Given the description of an element on the screen output the (x, y) to click on. 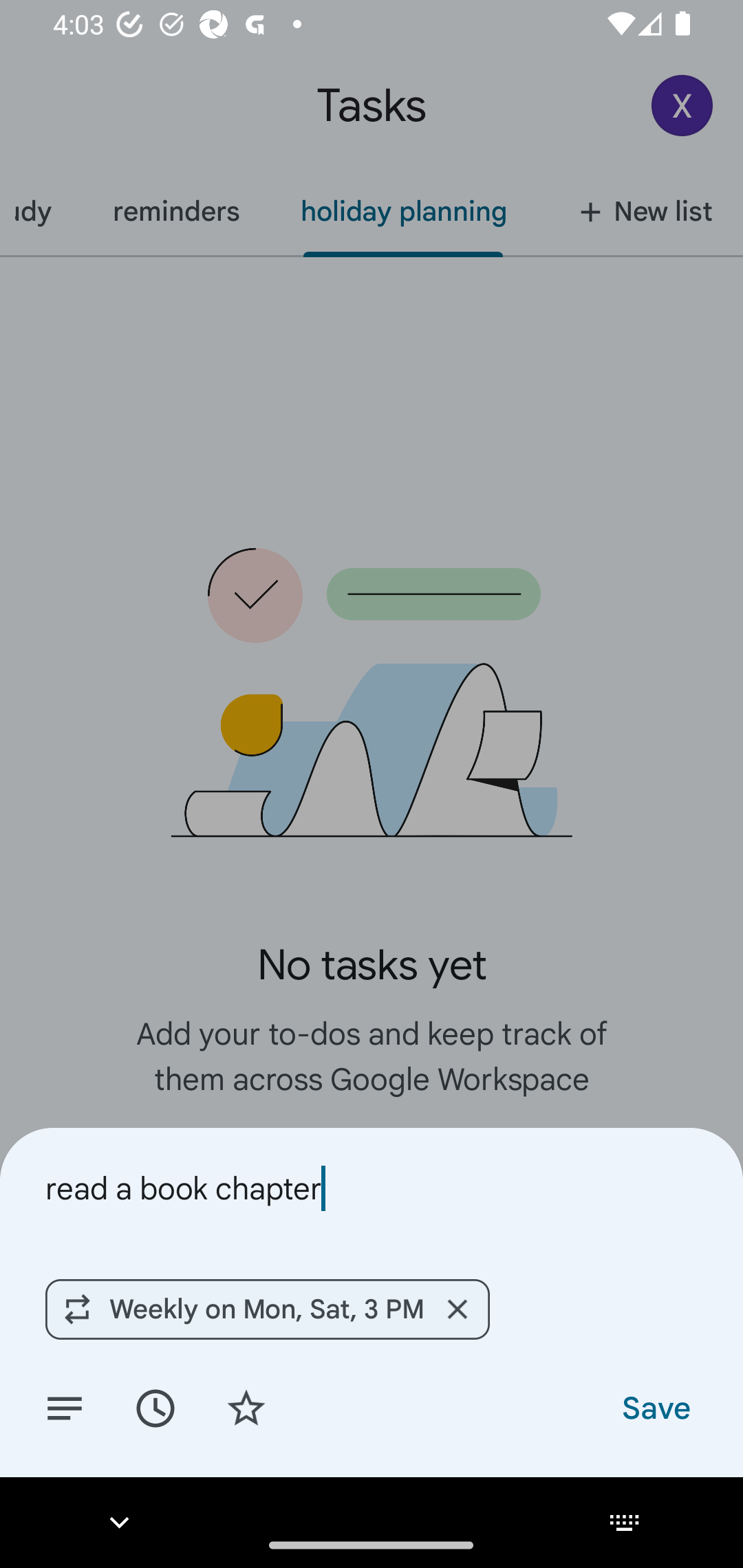
read a book chapter (371, 1188)
Save (655, 1407)
Add details (64, 1407)
Set date/time (154, 1407)
Add star (245, 1407)
